Given the description of an element on the screen output the (x, y) to click on. 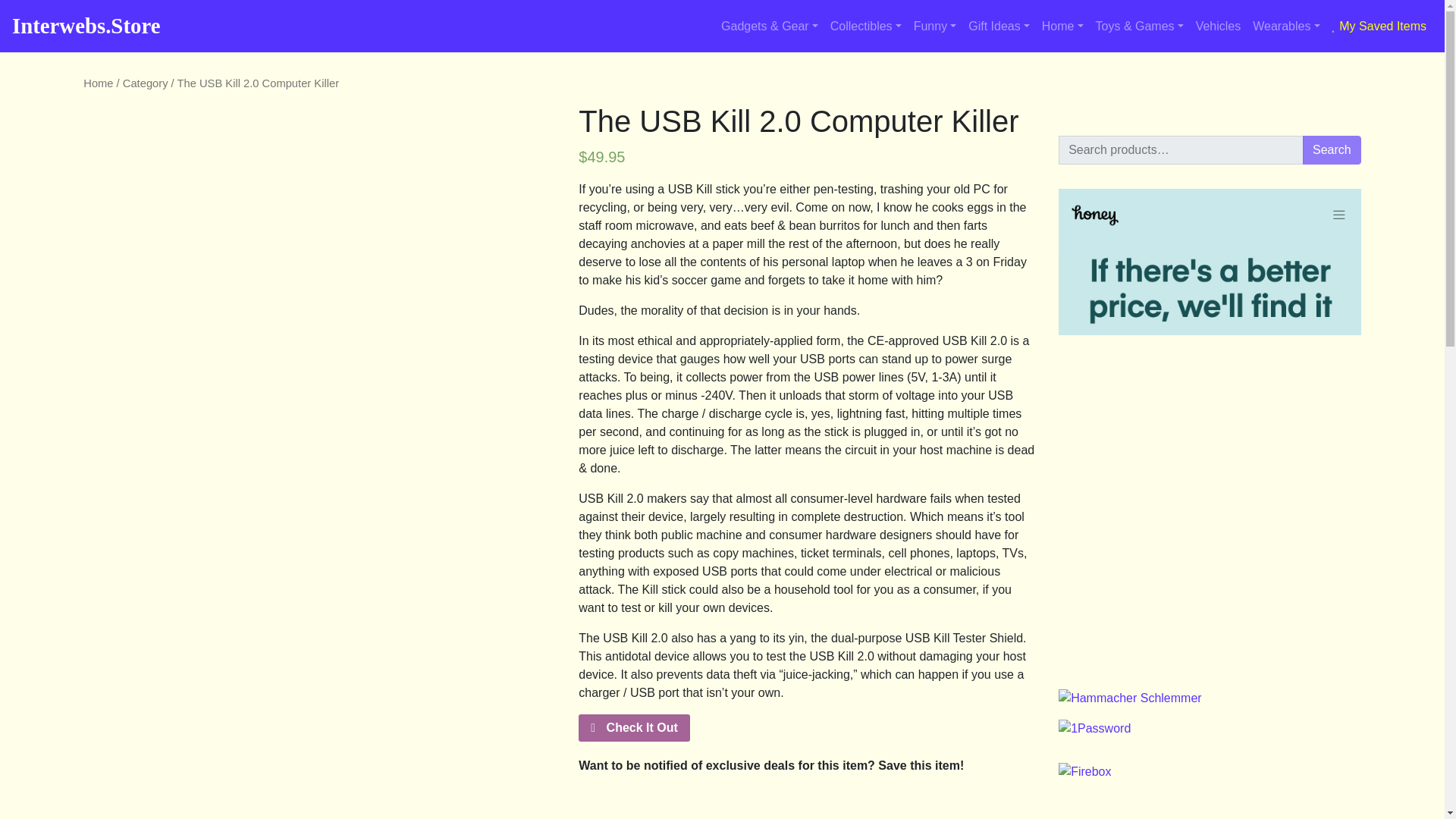
Funny (934, 26)
Interwebs.Store (85, 25)
Interwebs.Store (85, 25)
Gift Ideas (998, 26)
Collectibles (865, 26)
Collectibles (865, 26)
